Given the description of an element on the screen output the (x, y) to click on. 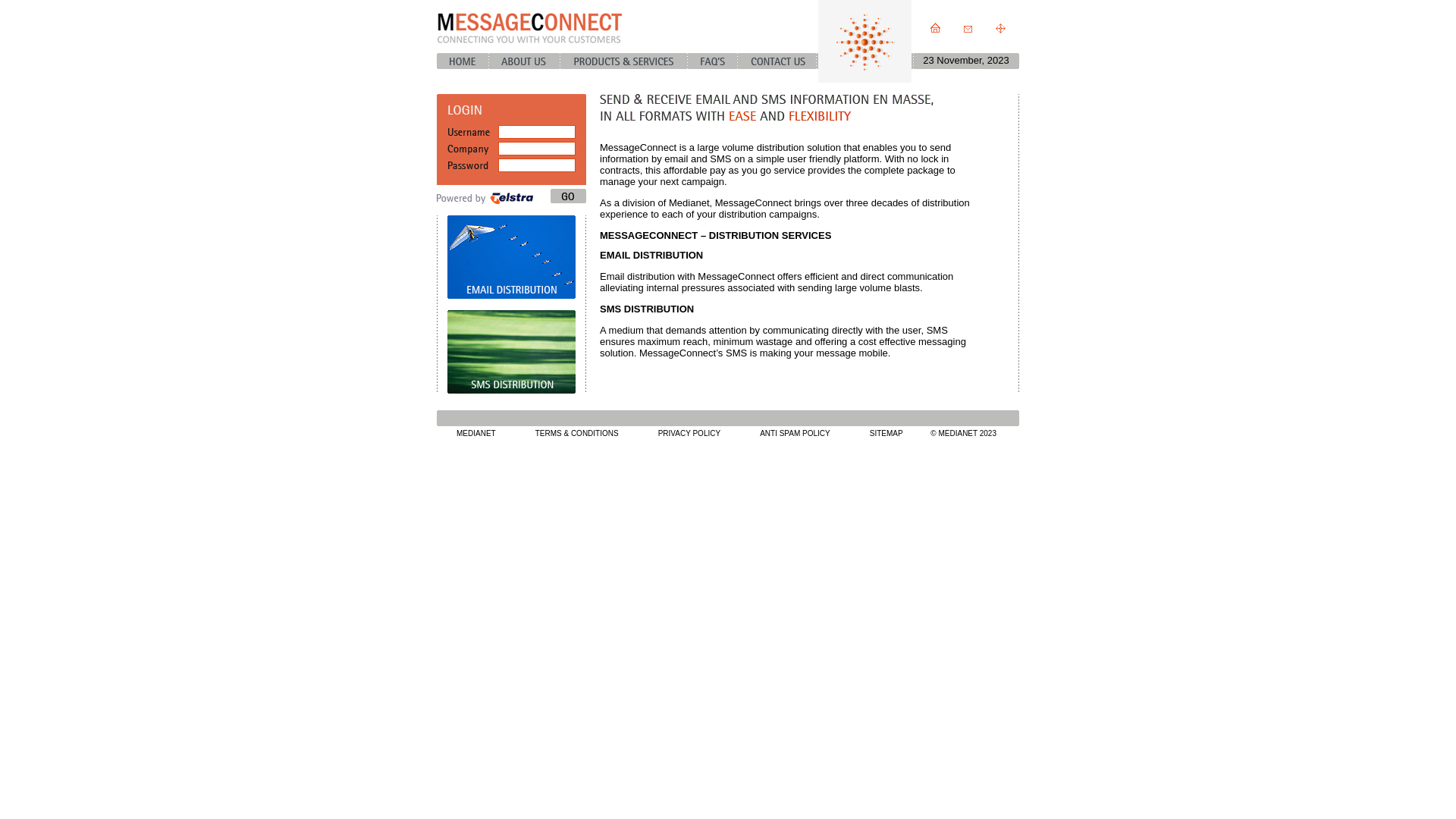
MEDIANET Element type: text (475, 433)
Contact Medianet Message Connect Element type: hover (776, 61)
Email SMS Medianet Message Connect Element type: hover (462, 61)
Contact Medianet Message Connect Element type: hover (967, 27)
Email to SMS Fax to Email Broadcasting SMS Services Element type: hover (623, 61)
Email SMS Medianet Message Connect Element type: hover (935, 27)
About Medianet Message Connect Element type: hover (524, 61)
SITEMAP Element type: text (886, 433)
TERMS & CONDITIONS Element type: text (576, 433)
Frequently Asked Questions FAQ Medianet Message Connect Element type: hover (712, 61)
Sitemap Element type: hover (1000, 27)
ANTI SPAM POLICY Element type: text (794, 433)
PRIVACY POLICY Element type: text (689, 433)
